Given the description of an element on the screen output the (x, y) to click on. 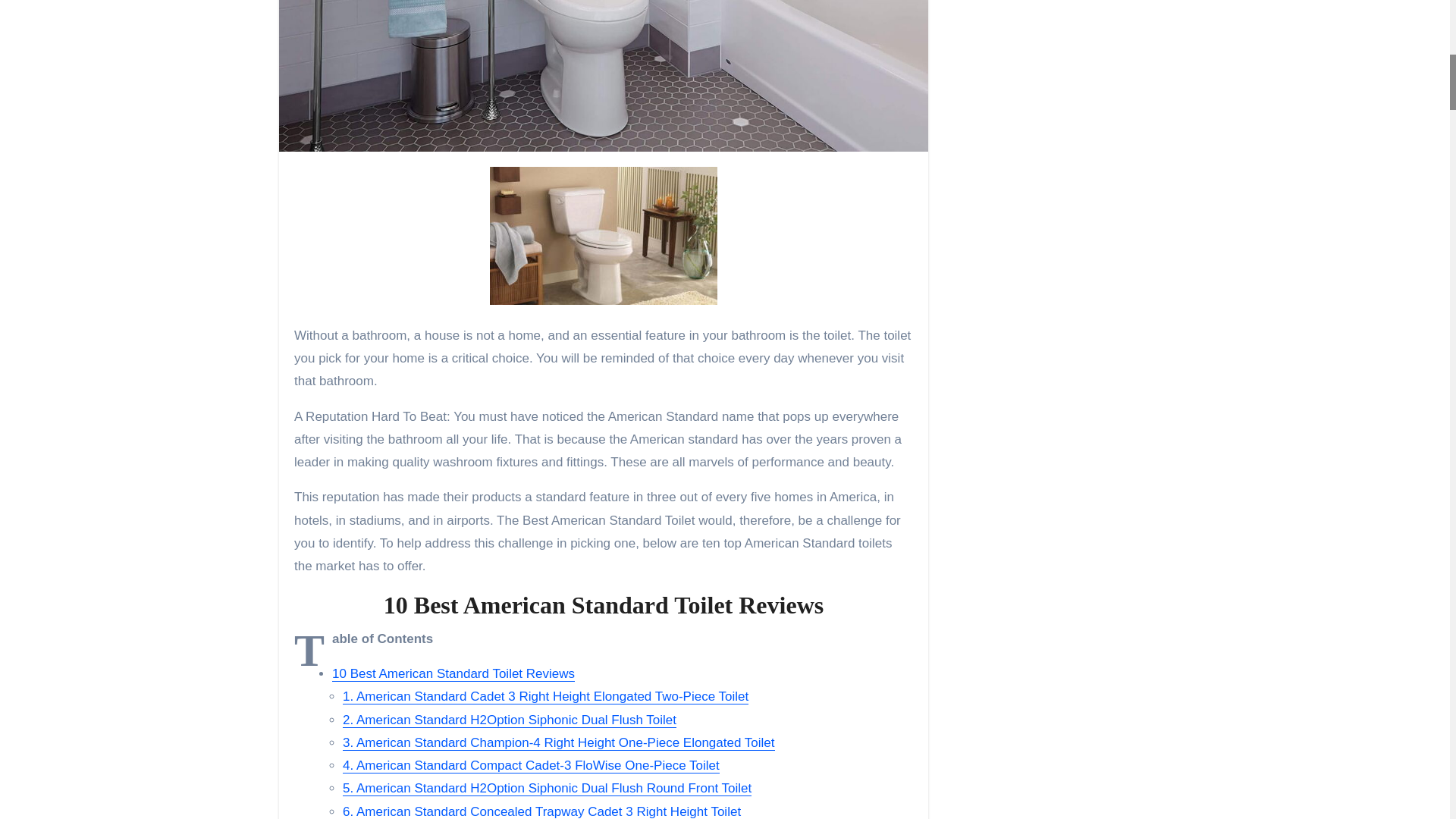
10 Best American Standard Toilet Reviews (453, 673)
10 Best American Standard Toilet Reviews (453, 673)
2. American Standard H2Option Siphonic Dual Flush Toilet (509, 719)
2. American Standard H2Option Siphonic Dual Flush Toilet (509, 719)
